Given the description of an element on the screen output the (x, y) to click on. 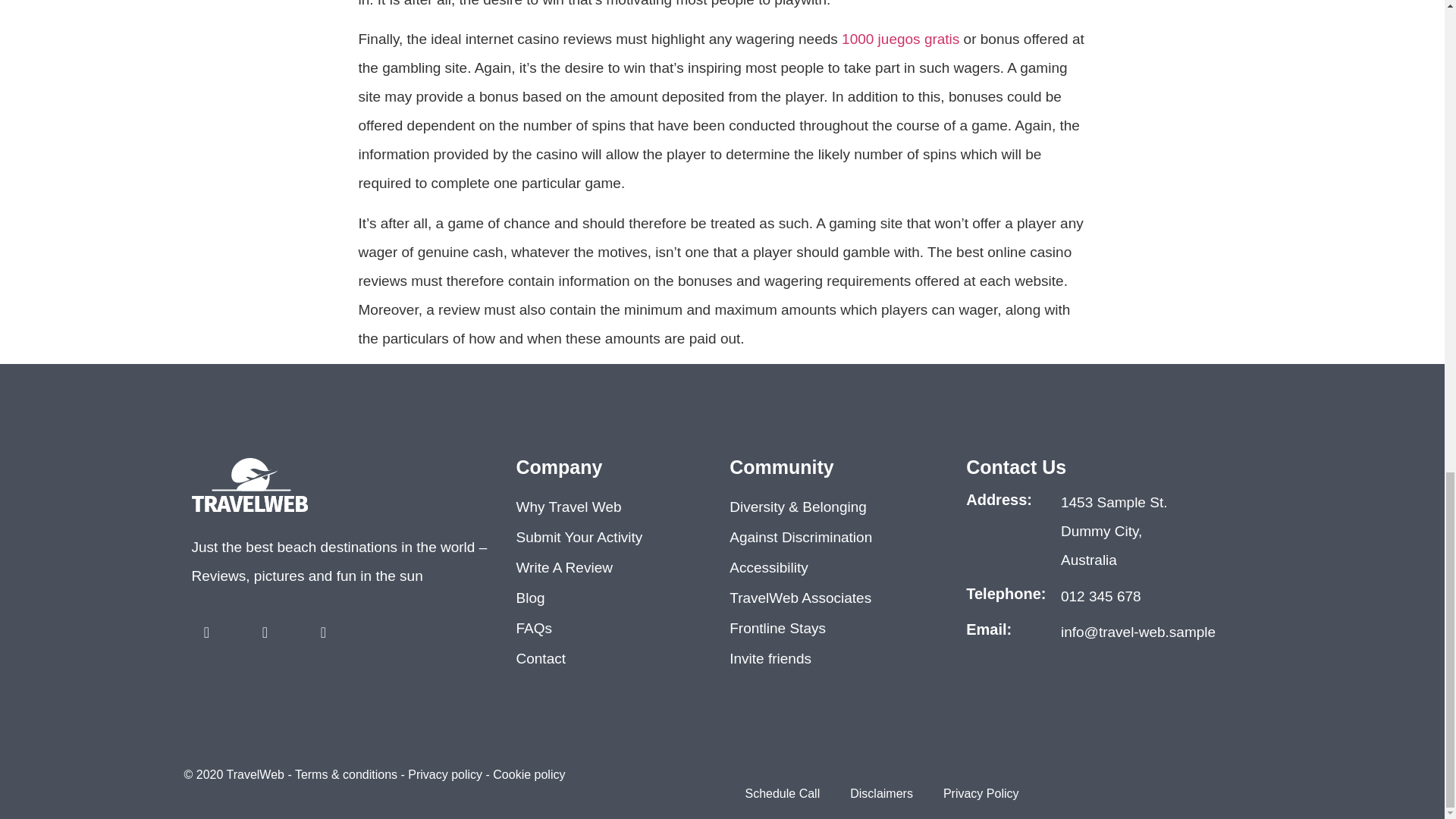
1000 juegos gratis (900, 38)
